Given the description of an element on the screen output the (x, y) to click on. 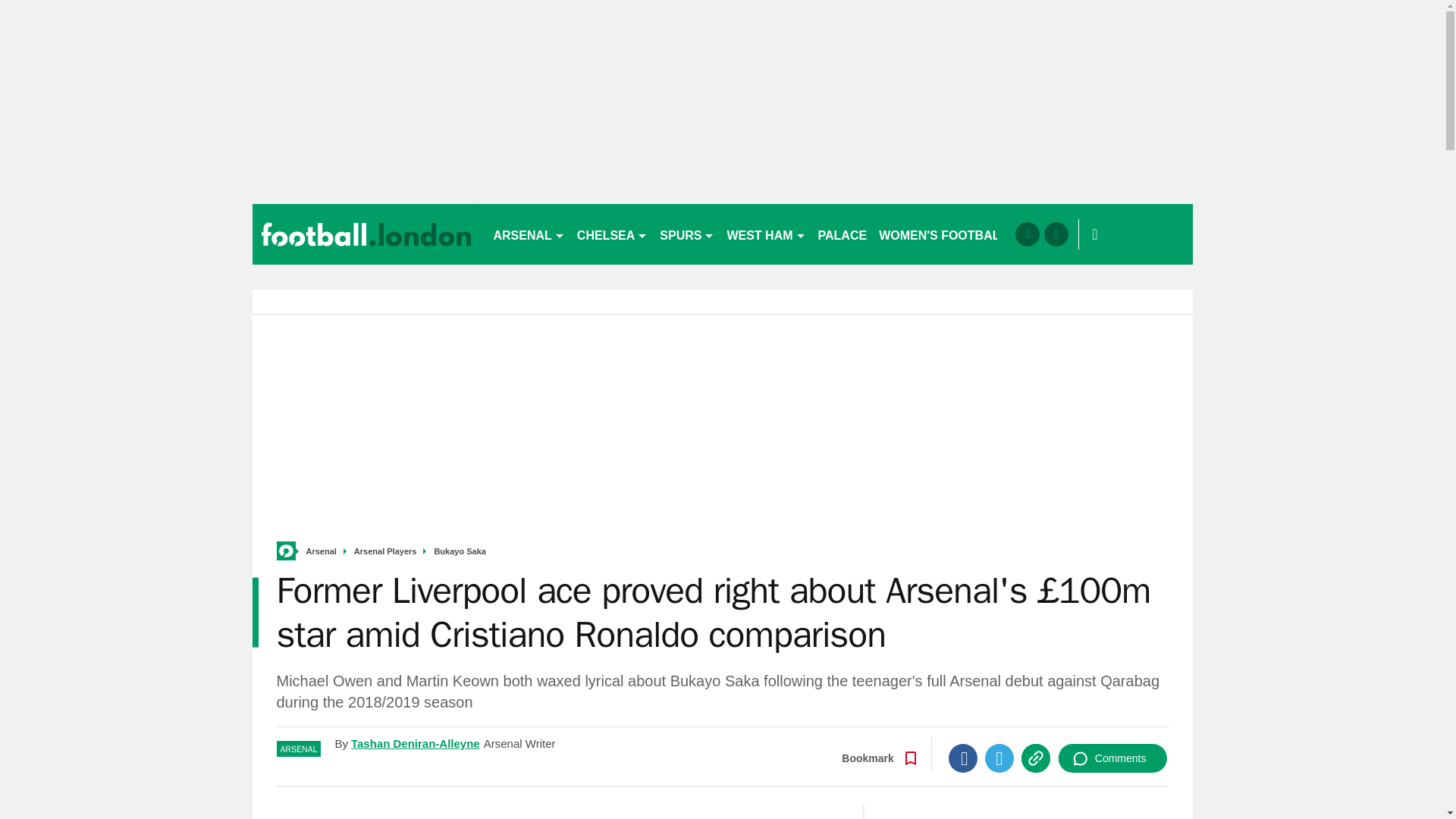
Comments (1112, 758)
twitter (1055, 233)
footballlondon (365, 233)
WEST HAM (765, 233)
SPURS (686, 233)
WOMEN'S FOOTBALL (942, 233)
facebook (1026, 233)
CHELSEA (611, 233)
PALACE (842, 233)
ARSENAL (528, 233)
